Given the description of an element on the screen output the (x, y) to click on. 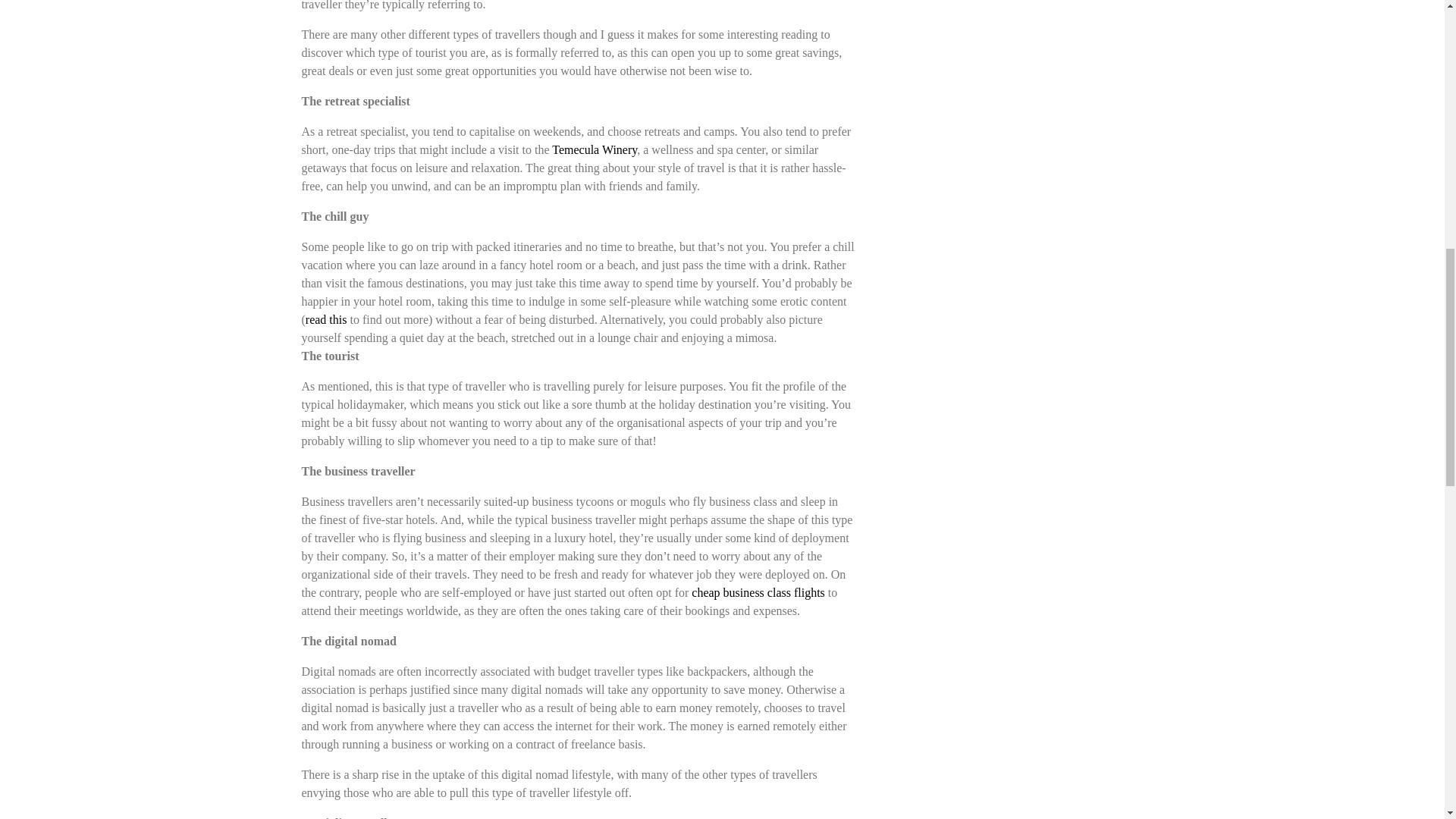
read this (326, 318)
cheap business class flights (758, 592)
Temecula Winery (594, 149)
